Given the description of an element on the screen output the (x, y) to click on. 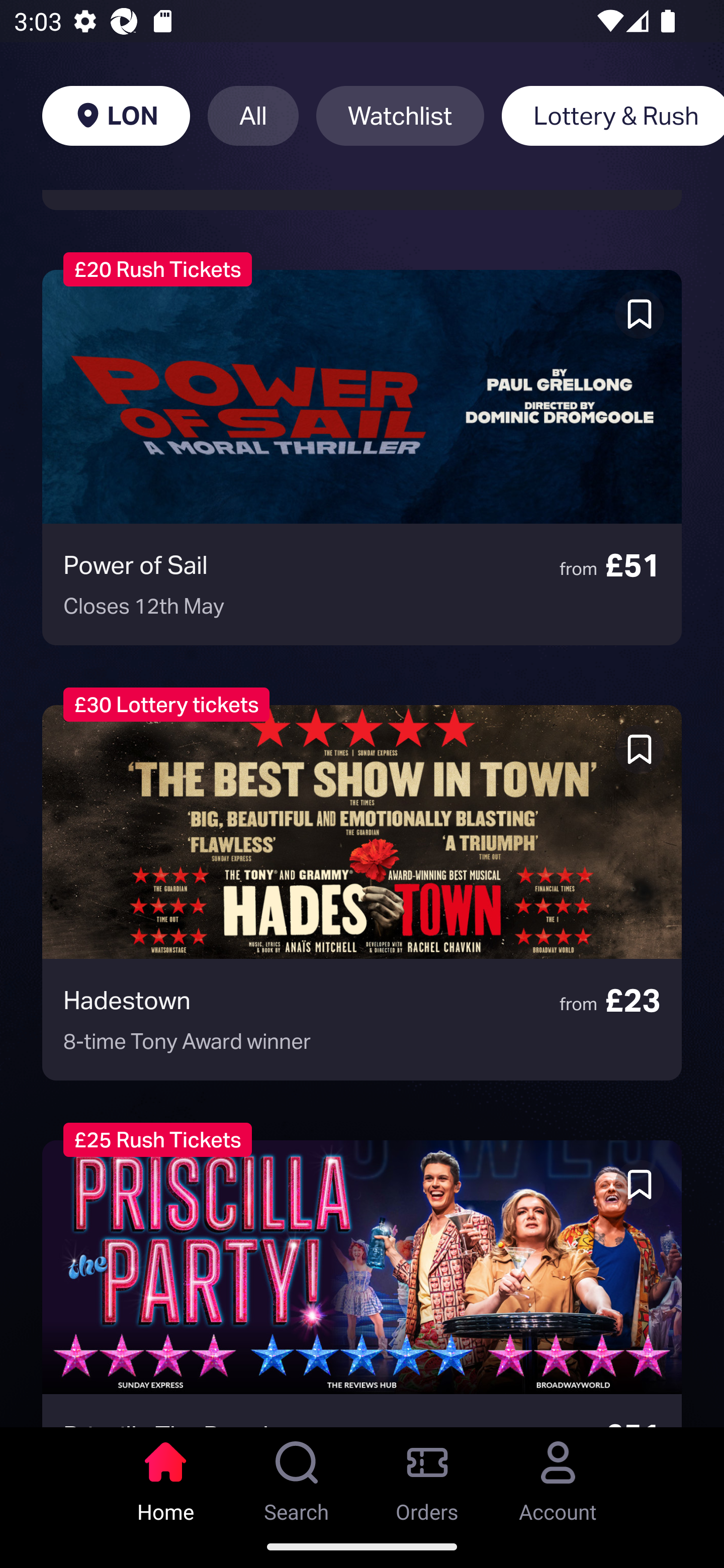
LON (115, 115)
All (252, 115)
Watchlist (400, 115)
Lottery & Rush (612, 115)
Power of Sail from £51 Closes 12th May (361, 457)
Hadestown from £23 8-time Tony Award winner (361, 892)
Priscilla The Party! £51 (361, 1282)
Search (296, 1475)
Orders (427, 1475)
Account (558, 1475)
